Given the description of an element on the screen output the (x, y) to click on. 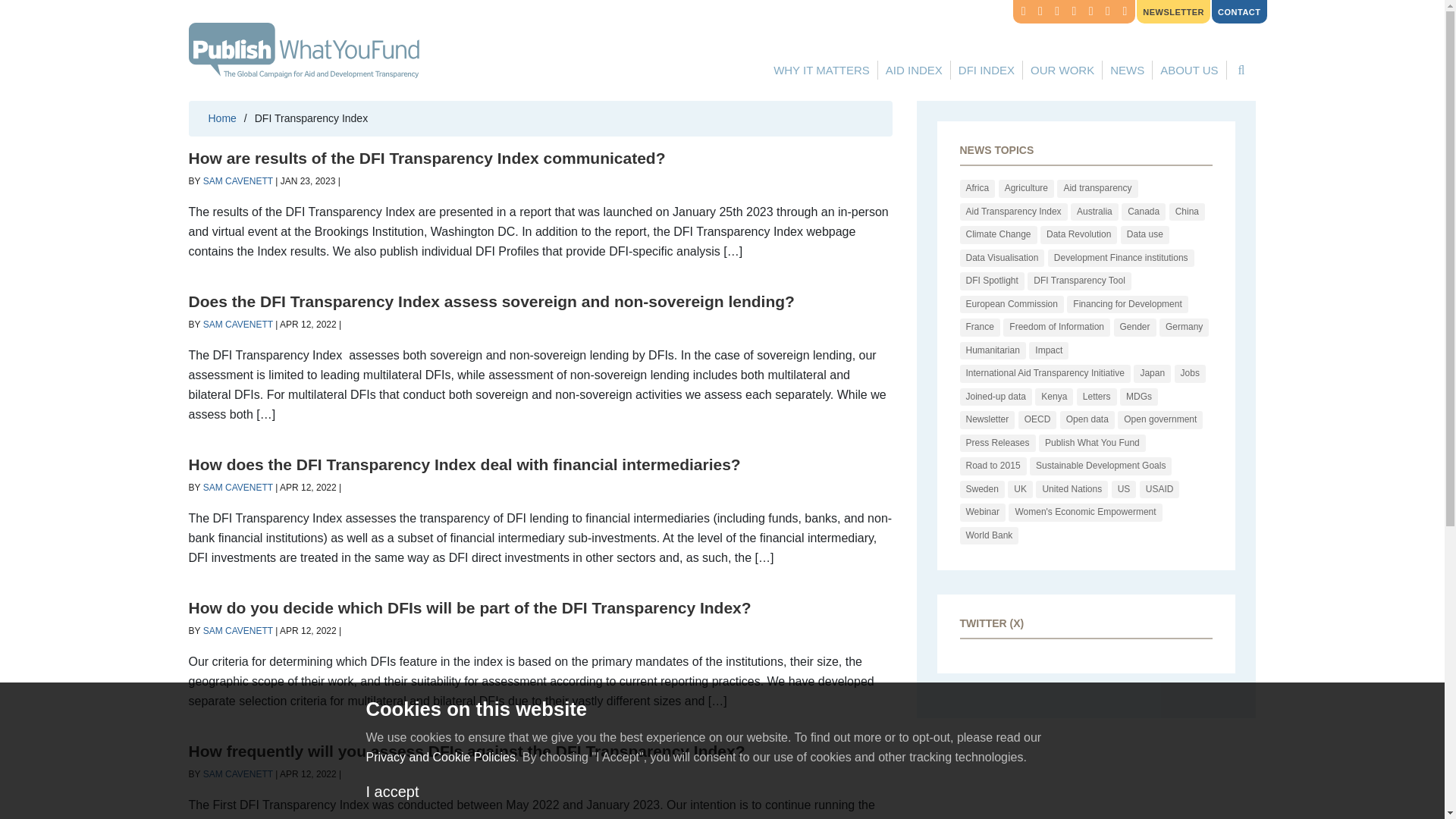
NEWSLETTER (1173, 11)
Posts by Sam Cavenett (238, 487)
Vimeo (1056, 11)
OUR WORK (1062, 69)
Instagram (1124, 11)
Posts by Sam Cavenett (238, 181)
Posts by Sam Cavenett (238, 774)
CONTACT (1238, 11)
Facebook (1107, 11)
LinkedIn (1090, 11)
AID INDEX (913, 69)
WHY IT MATTERS (821, 69)
RSS (1023, 11)
Twitter (1039, 11)
